Given the description of an element on the screen output the (x, y) to click on. 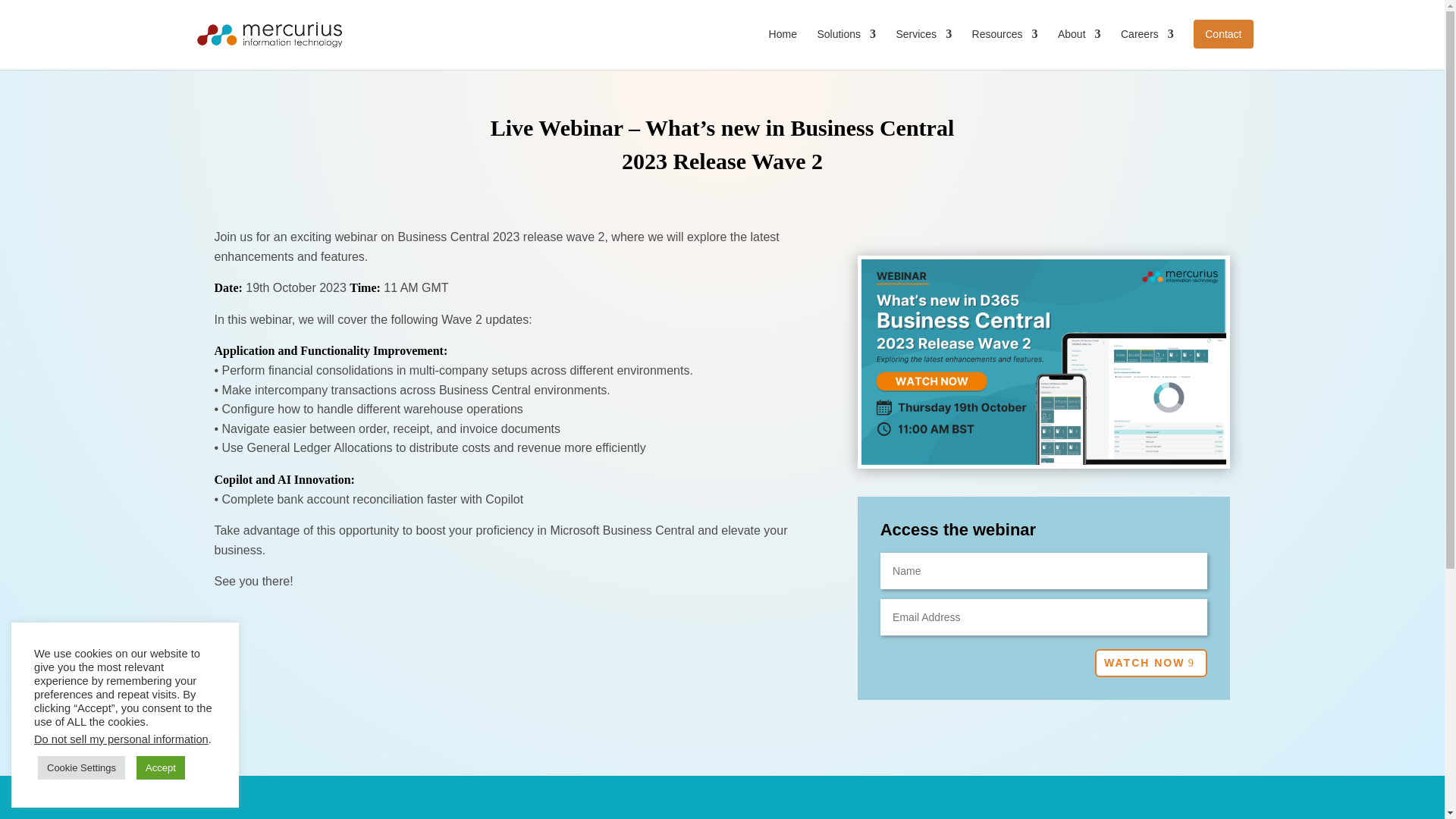
Services (923, 46)
Solutions (846, 46)
BC-RW2-OCT-Webinar-Thumbnal (1044, 362)
